Given the description of an element on the screen output the (x, y) to click on. 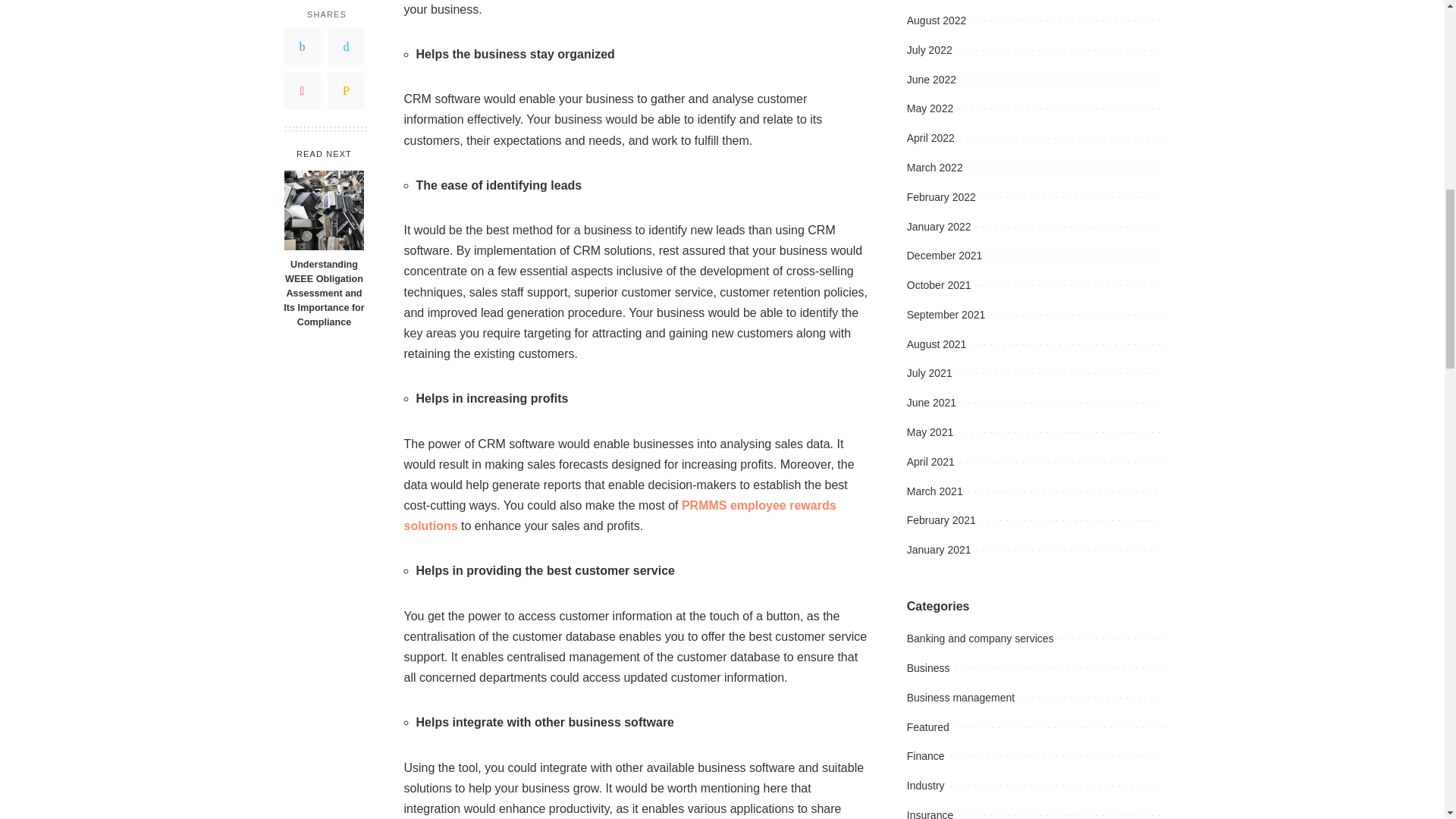
PRMMS employee rewards solutions (619, 515)
